Given the description of an element on the screen output the (x, y) to click on. 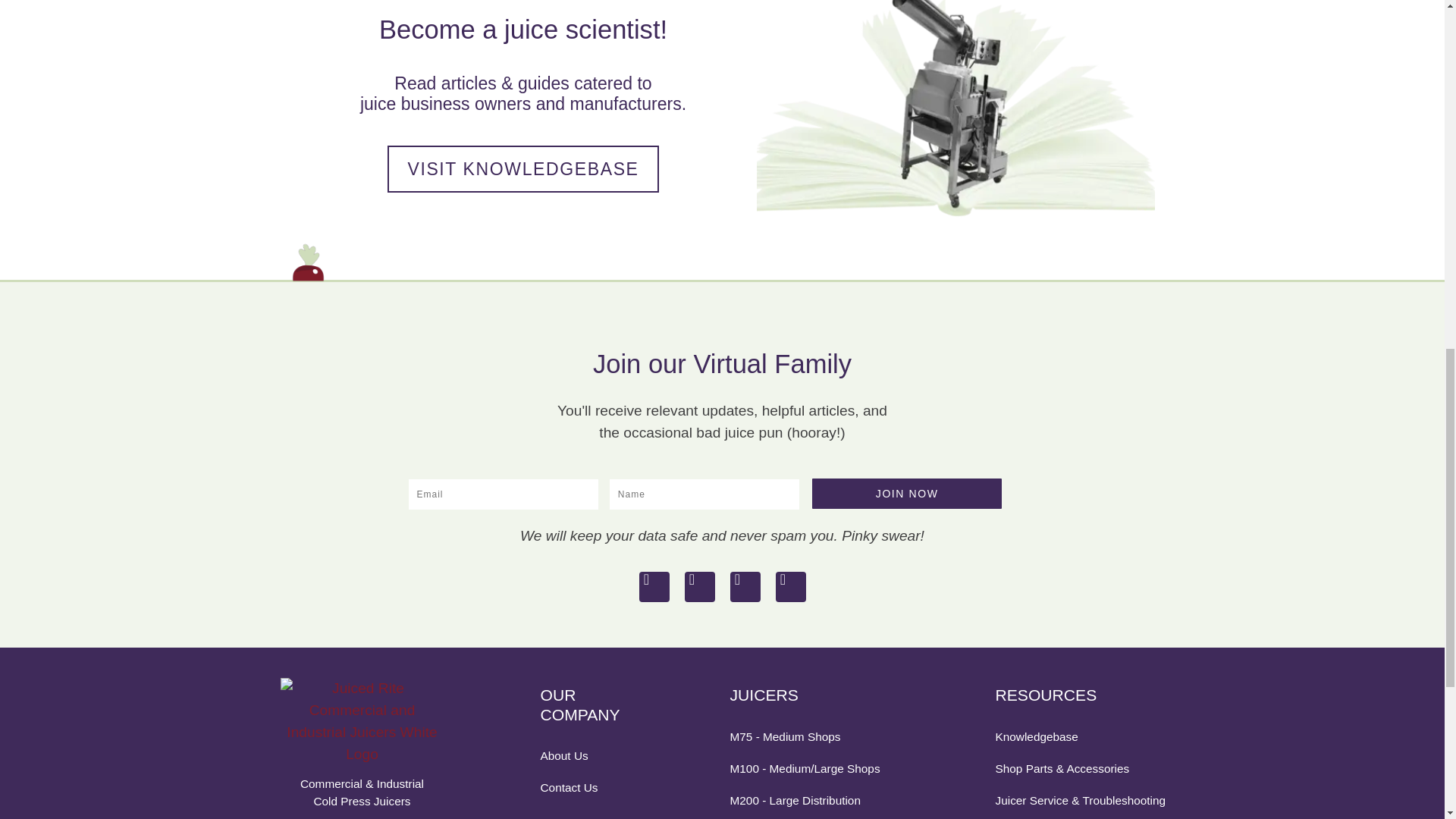
Contact Us (589, 787)
M200 - Large Distribution (816, 800)
Join Now (906, 493)
Knowledgebase (1081, 736)
VISIT KNOWLEDGEBASE (522, 169)
M75 - Medium Shops (816, 736)
About Us (589, 755)
